Given the description of an element on the screen output the (x, y) to click on. 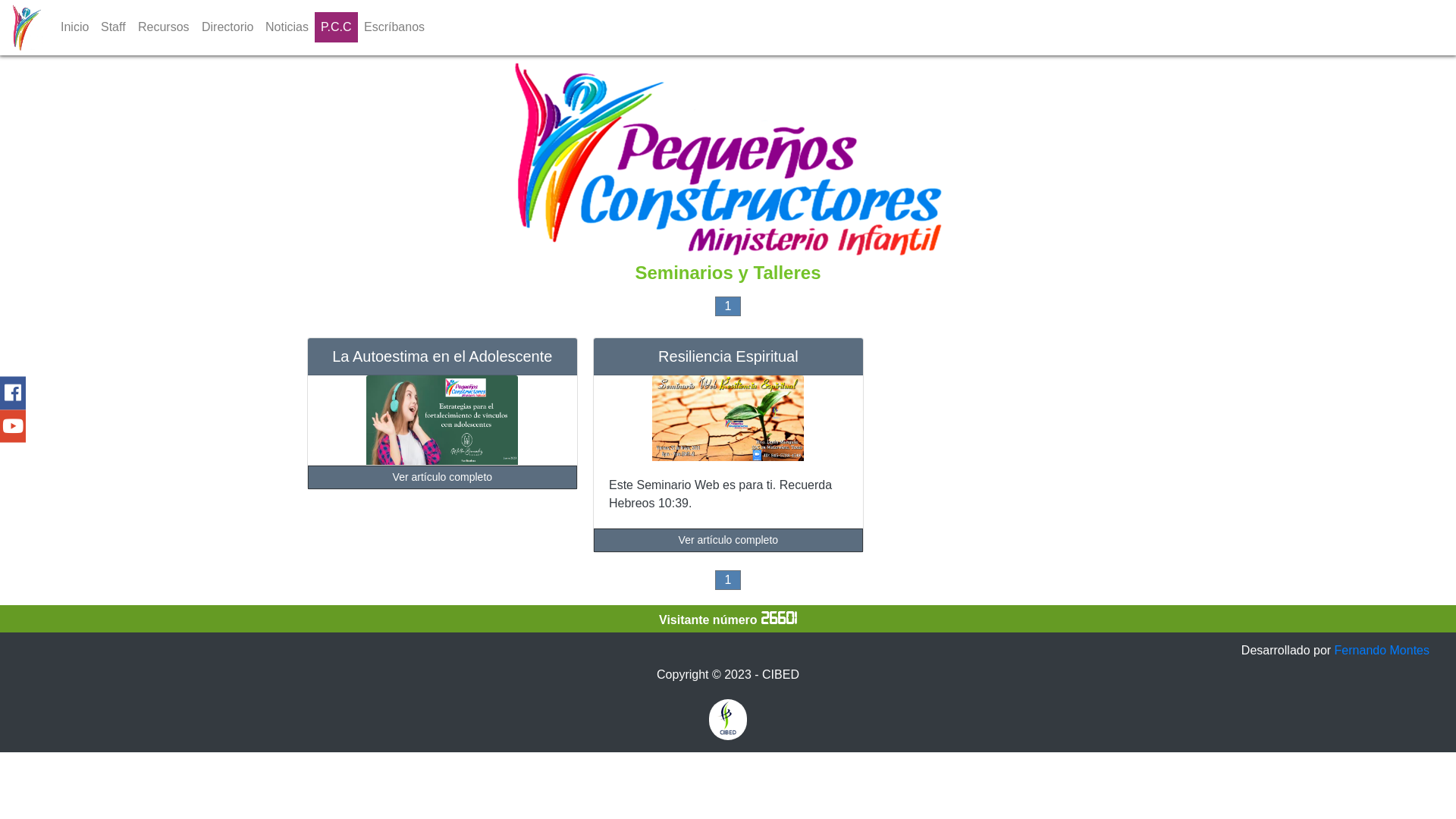
P.C.C Element type: text (335, 27)
1 Element type: text (728, 306)
Directorio Element type: text (227, 27)
Staff Element type: text (112, 27)
Recursos Element type: text (163, 27)
1 Element type: text (728, 579)
Inicio Element type: text (74, 27)
Noticias Element type: text (286, 27)
Fernando Montes Element type: text (1381, 649)
